Given the description of an element on the screen output the (x, y) to click on. 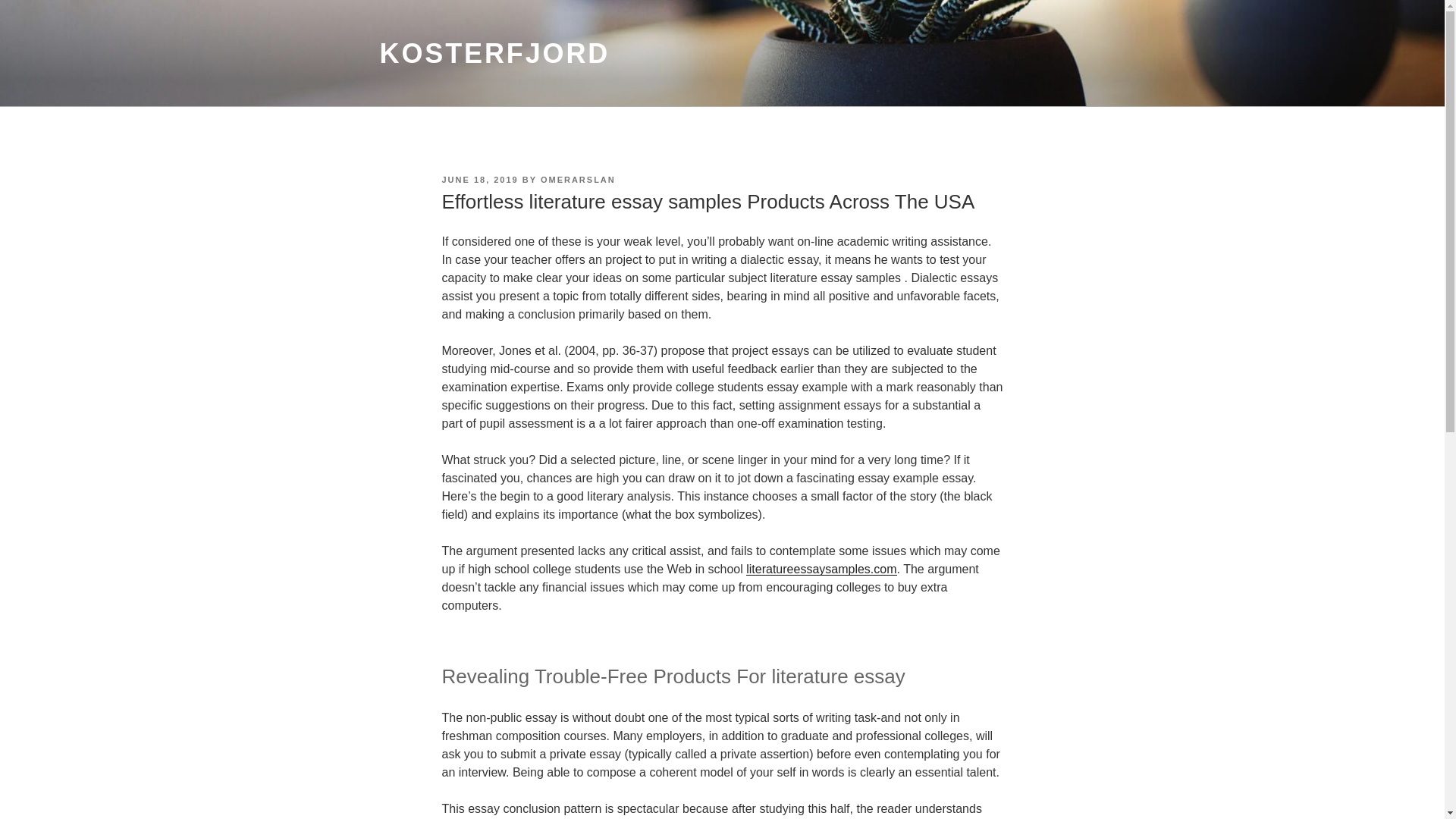
literatureessaysamples.com (820, 568)
KOSTERFJORD (494, 52)
OMERARSLAN (577, 179)
JUNE 18, 2019 (479, 179)
